Given the description of an element on the screen output the (x, y) to click on. 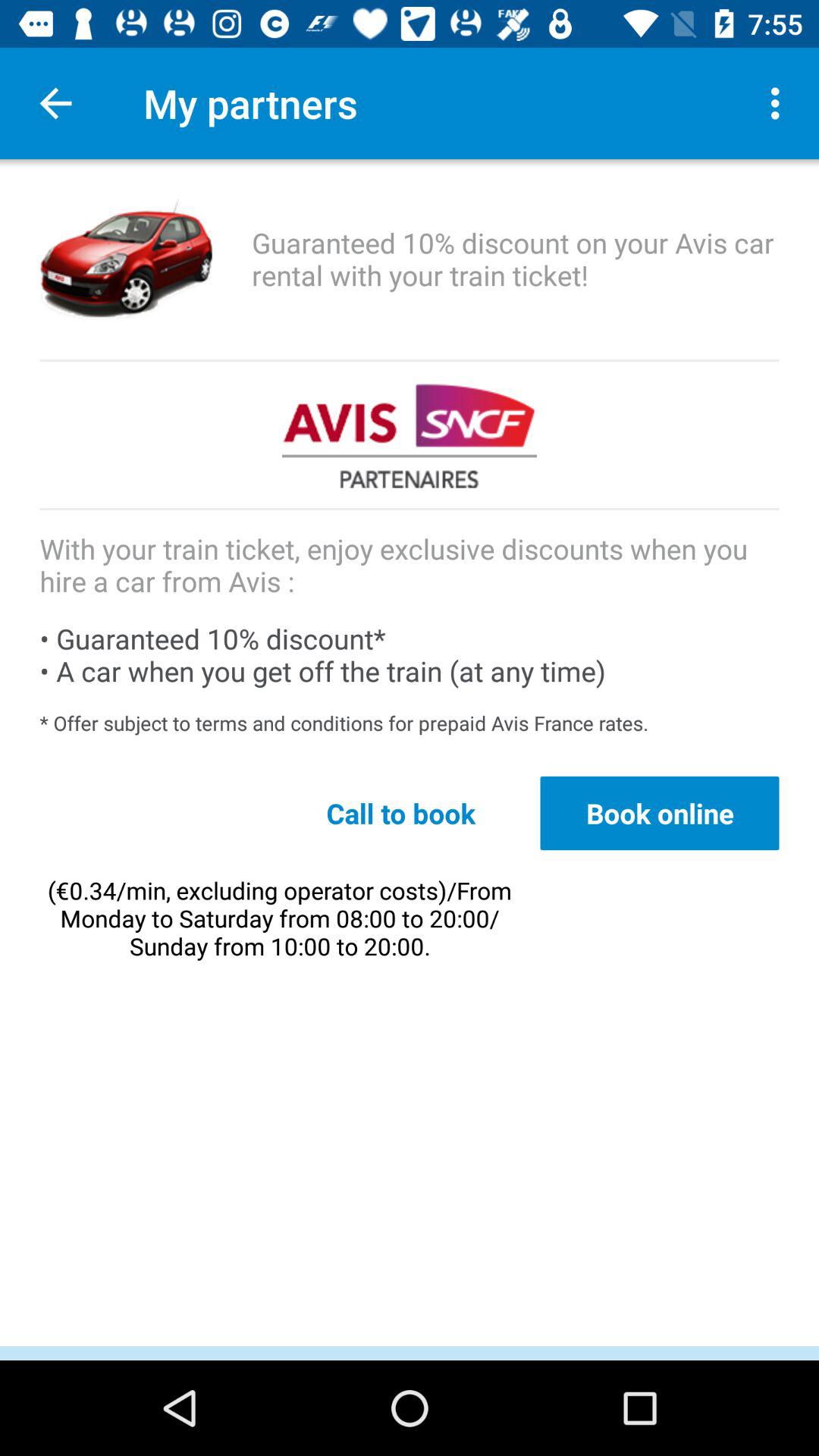
turn off the item above the 0 34 min (400, 813)
